Given the description of an element on the screen output the (x, y) to click on. 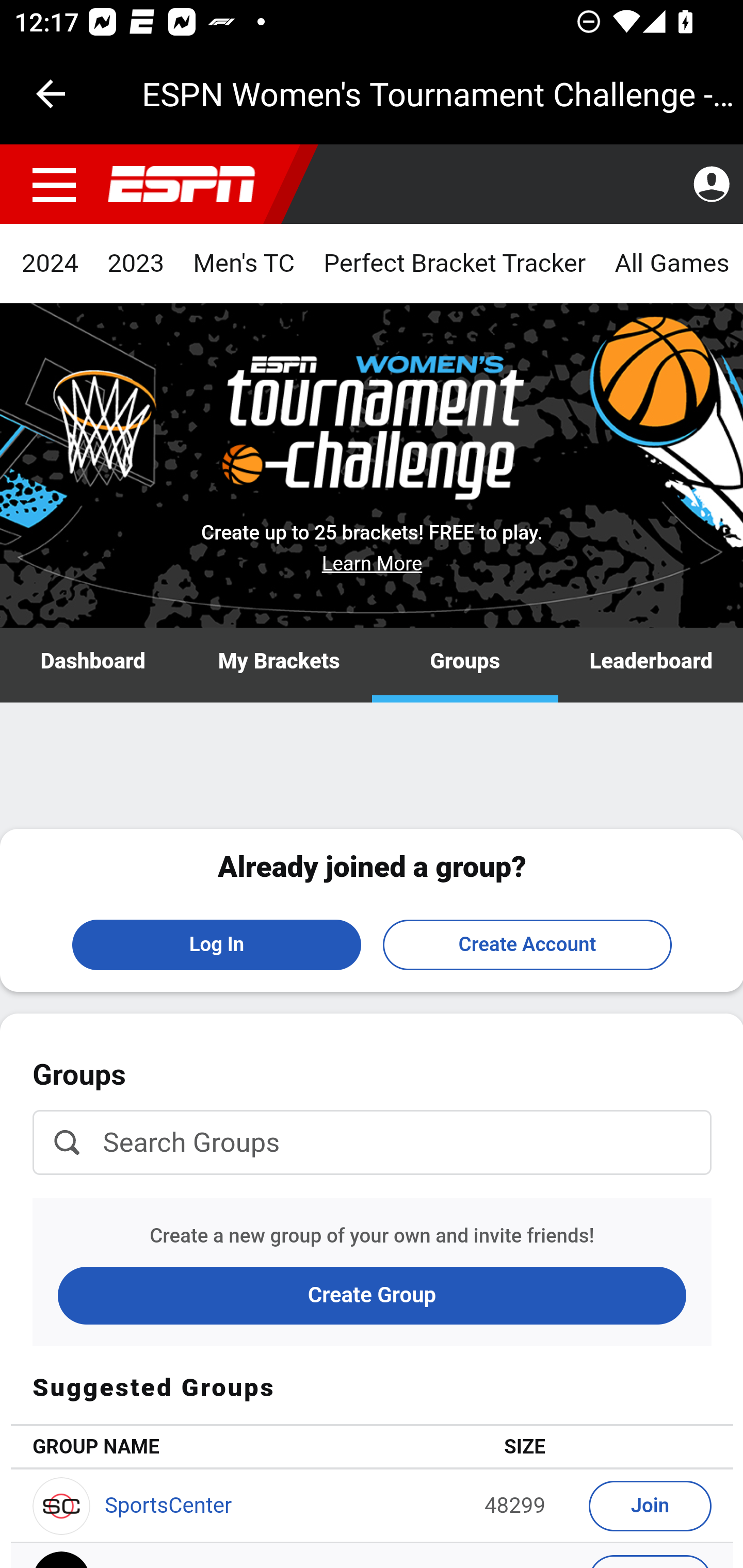
Navigate up (50, 93)
Menu (54, 184)
nav.arialabel.homepage (182, 184)
Profile Management (711, 184)
2024 (50, 264)
2023 (136, 264)
Men's TC (243, 264)
Perfect Bracket Tracker (454, 264)
All Games (671, 264)
Learn More (372, 563)
Dashboard Dashboard Dashboard (93, 666)
My Brackets My Brackets My Brackets (278, 666)
Groups Groups Groups (465, 666)
Leaderboard Leaderboard Leaderboard (649, 666)
Log In (217, 944)
Create Account (527, 944)
Create Group (372, 1294)
Join (650, 1505)
SportsCenter (168, 1506)
